Given the description of an element on the screen output the (x, y) to click on. 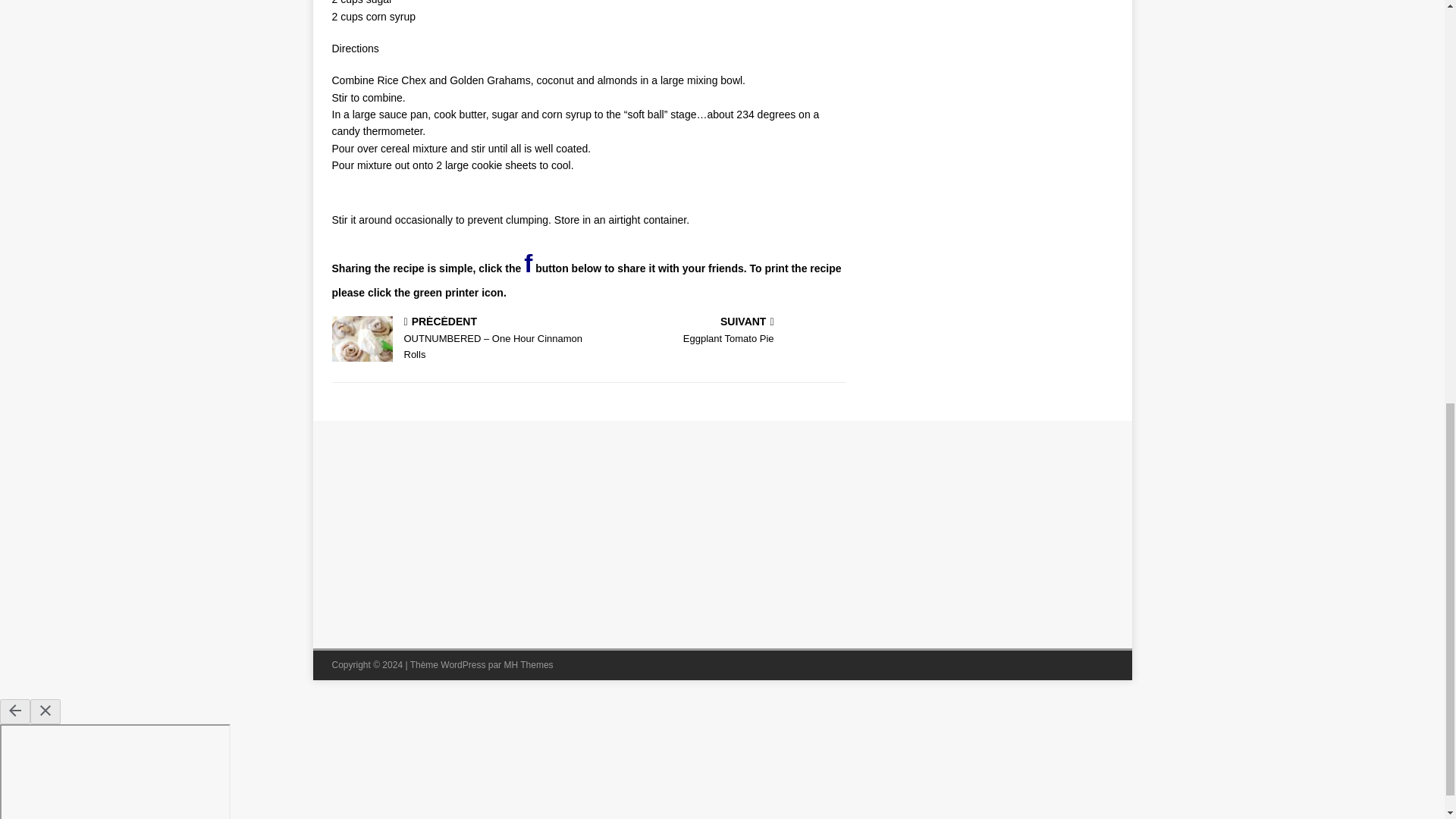
MH Themes (528, 665)
